Given the description of an element on the screen output the (x, y) to click on. 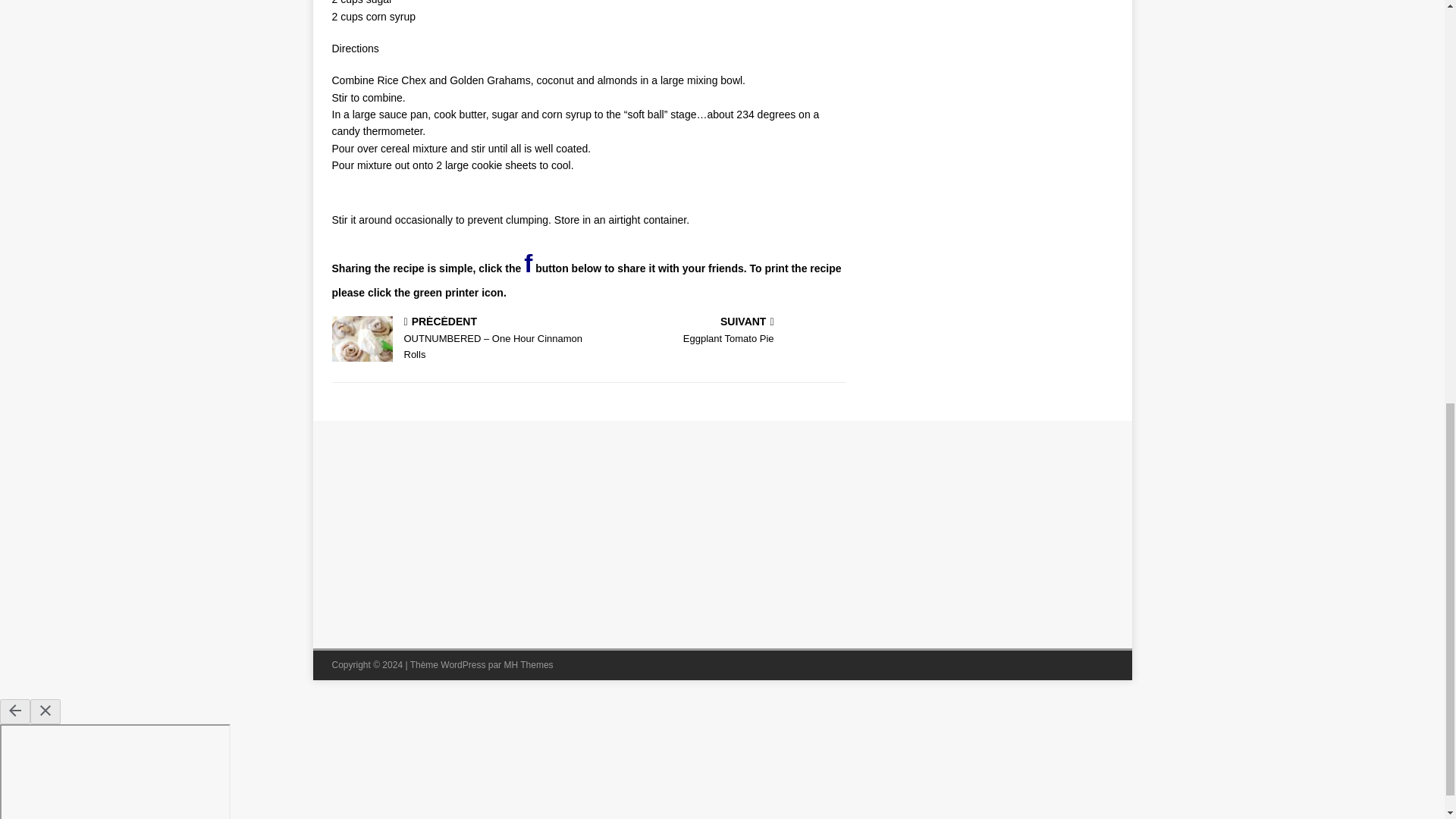
MH Themes (528, 665)
